Given the description of an element on the screen output the (x, y) to click on. 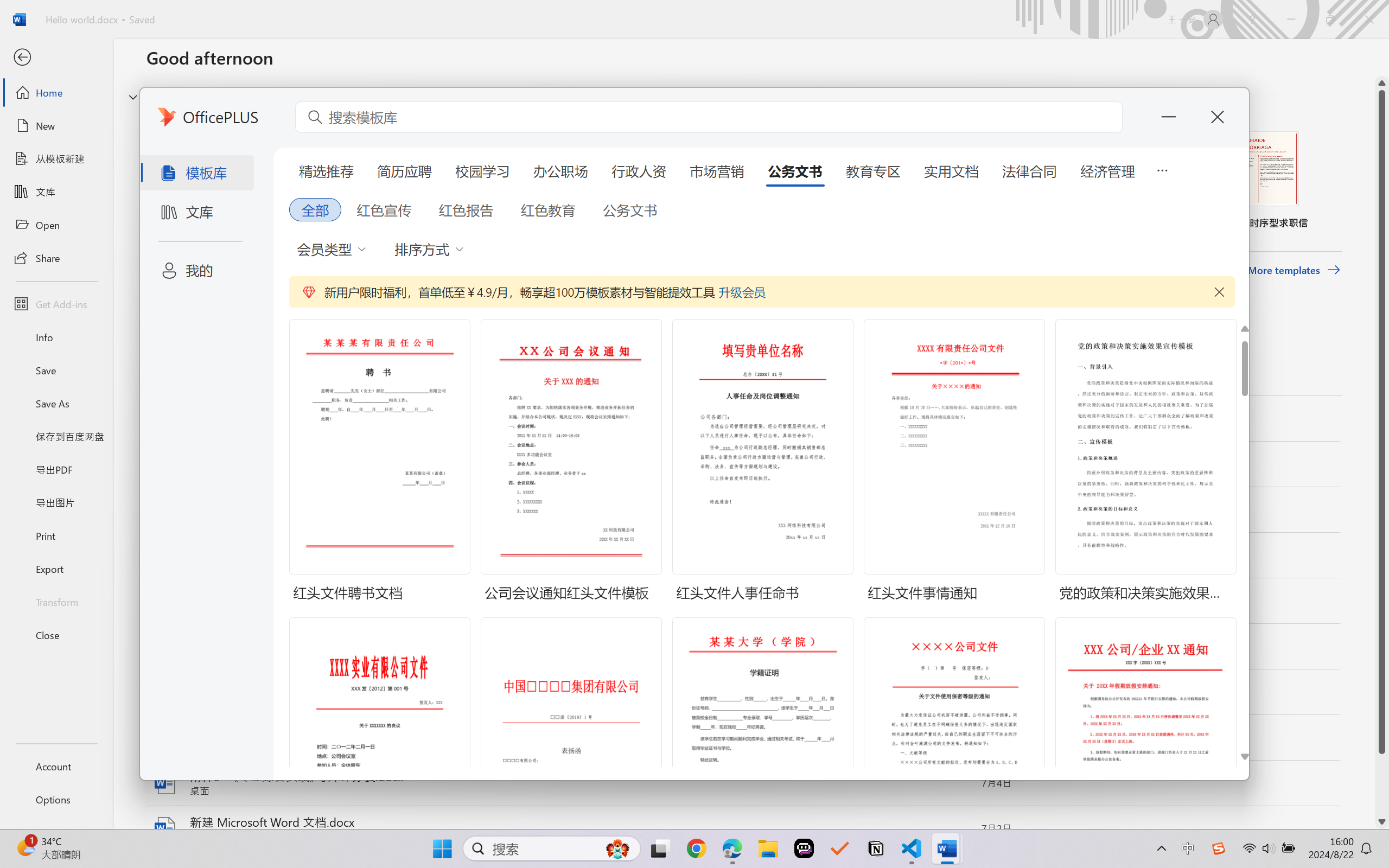
link-start (93, 28)
Notion (31, 109)
AutomationID: DynamicSearchBoxGleamImage (617, 848)
UGround_paper.pdf (654, 28)
Google Chrome (696, 848)
5 more tabs (1161, 169)
